Given the description of an element on the screen output the (x, y) to click on. 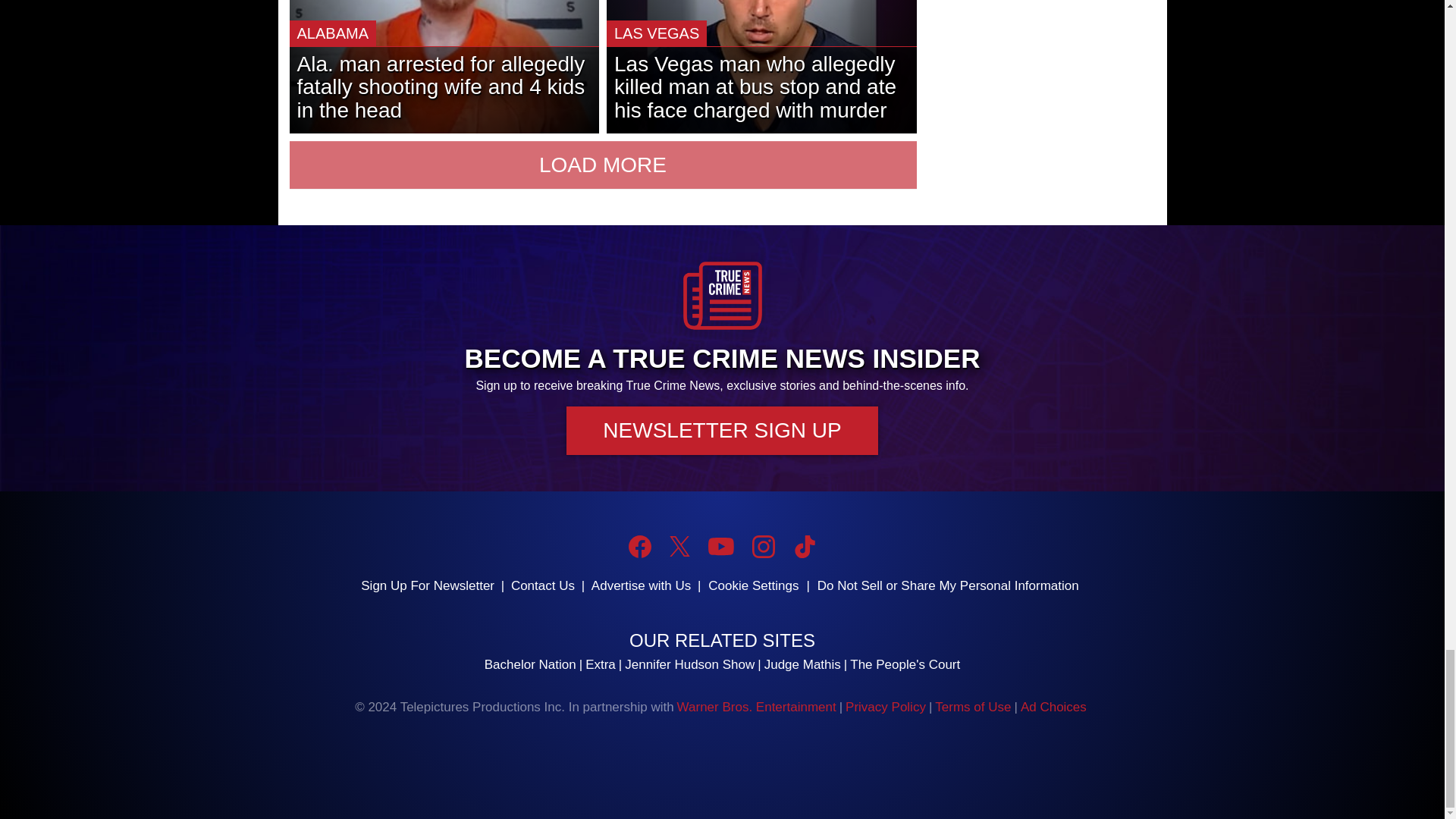
TikTok (804, 546)
Facebook (639, 546)
Twitter (679, 546)
YouTube (720, 546)
Instagram (763, 546)
